Given the description of an element on the screen output the (x, y) to click on. 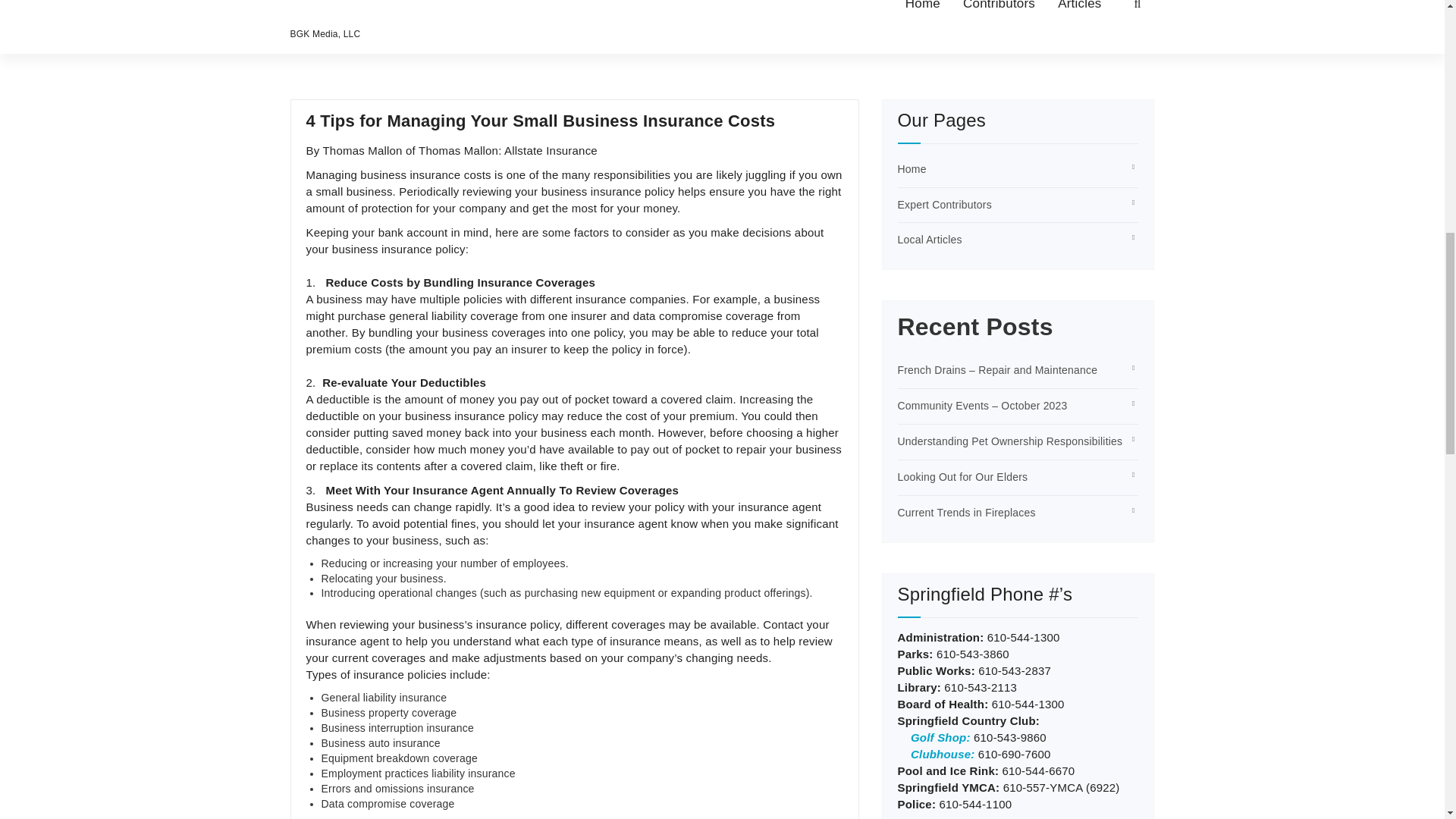
Expert Contributors (944, 204)
Looking Out for Our Elders (962, 476)
Understanding Pet Ownership Responsibilities (1010, 440)
Contributors (998, 10)
Local Articles (930, 239)
Home (922, 10)
4 Tips for Managing Your Small Business Insurance Costs (540, 120)
Home (912, 168)
Articles (1079, 10)
